Given the description of an element on the screen output the (x, y) to click on. 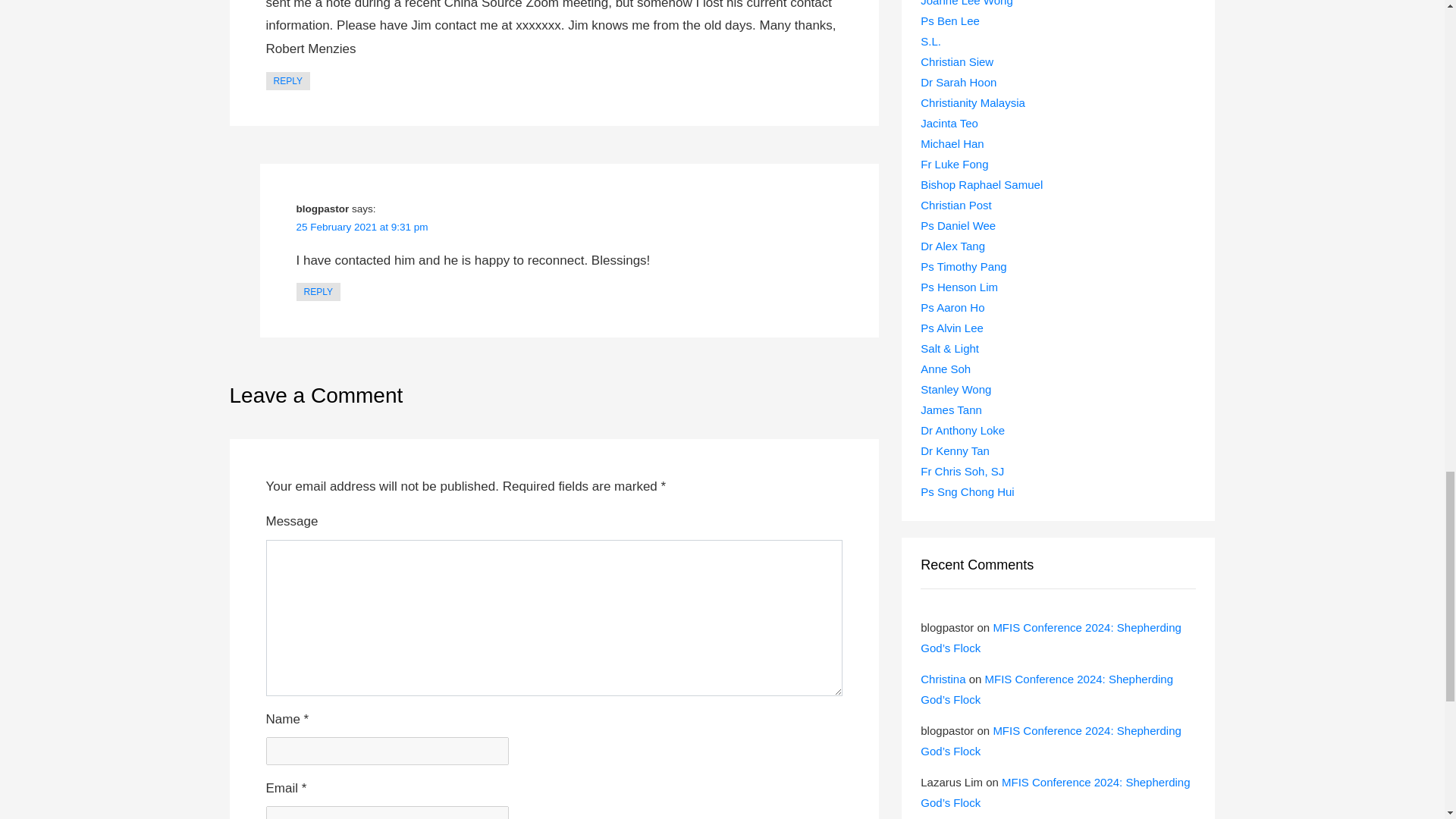
25 February 2021 at 9:31 pm (361, 226)
REPLY (286, 81)
Sarah Hoon (957, 82)
REPLY (317, 291)
